Given the description of an element on the screen output the (x, y) to click on. 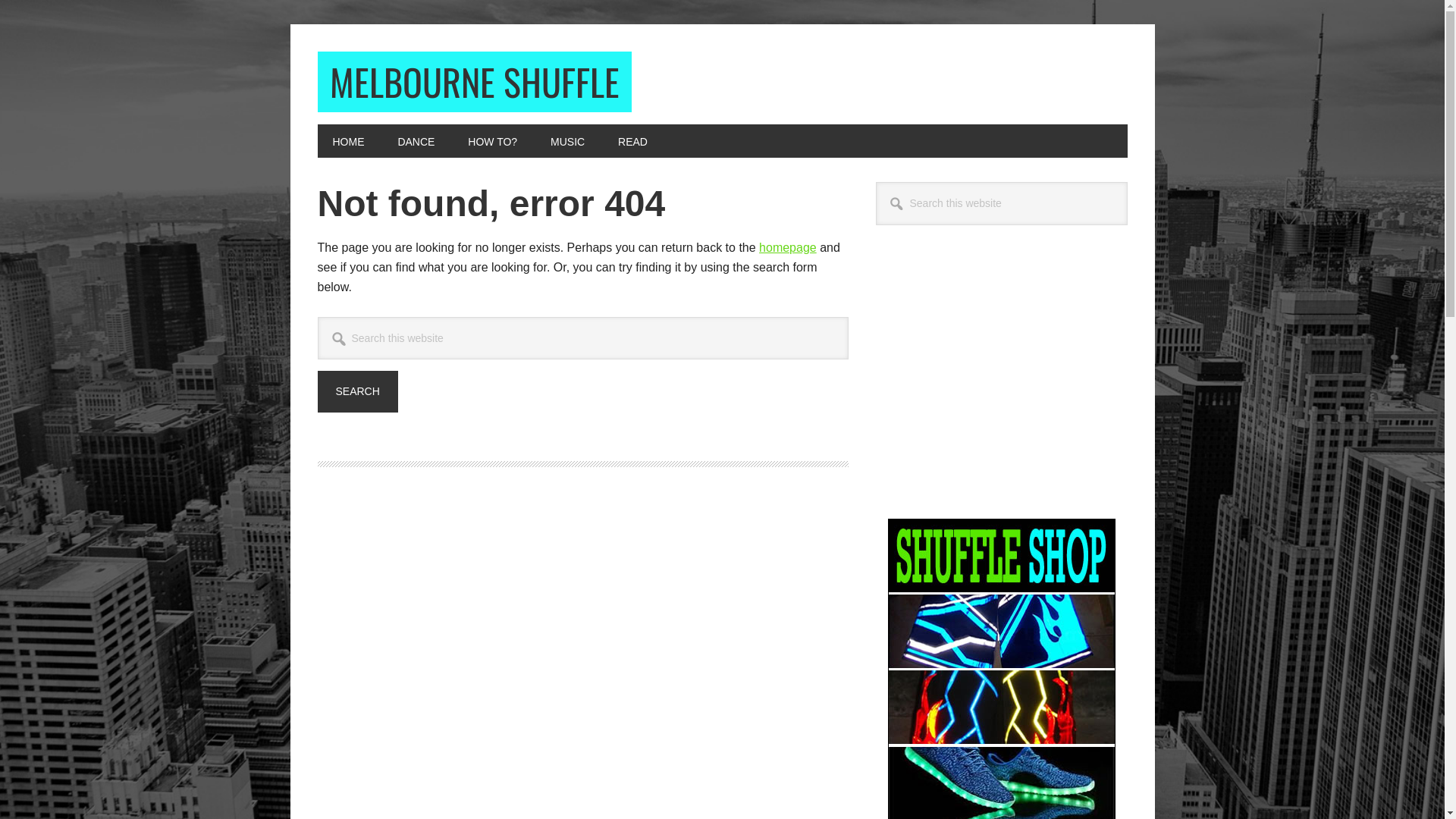
Advertisement Element type: hover (1000, 381)
Search Element type: text (1126, 181)
HOW TO? Element type: text (492, 140)
MELBOURNE SHUFFLE Element type: text (473, 81)
DANCE Element type: text (415, 140)
Skip to primary navigation Element type: text (0, 0)
homepage Element type: text (787, 247)
HOME Element type: text (347, 140)
Search Element type: text (356, 391)
READ Element type: text (632, 140)
MUSIC Element type: text (567, 140)
